Given the description of an element on the screen output the (x, y) to click on. 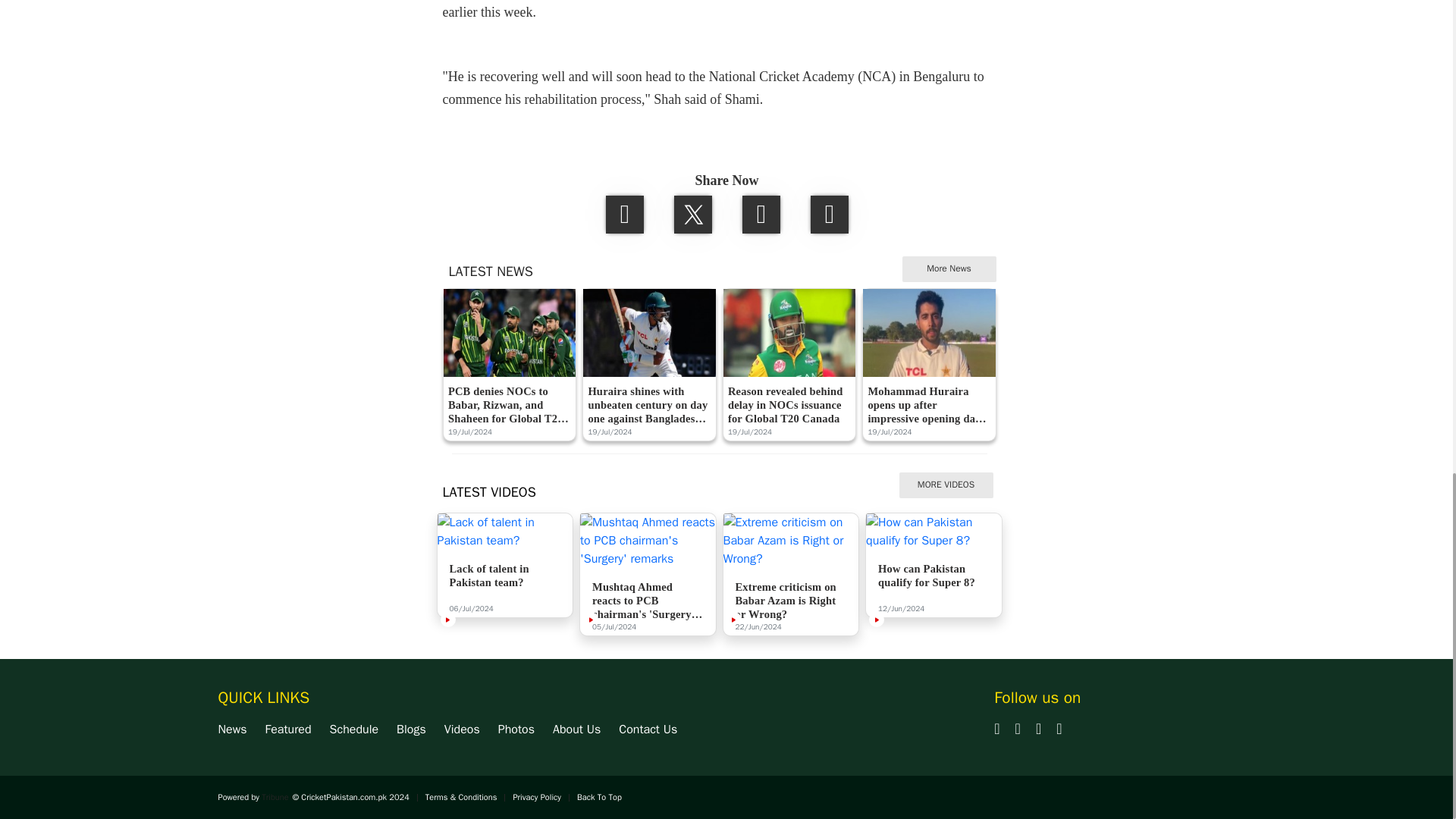
Back To Top (598, 797)
